Given the description of an element on the screen output the (x, y) to click on. 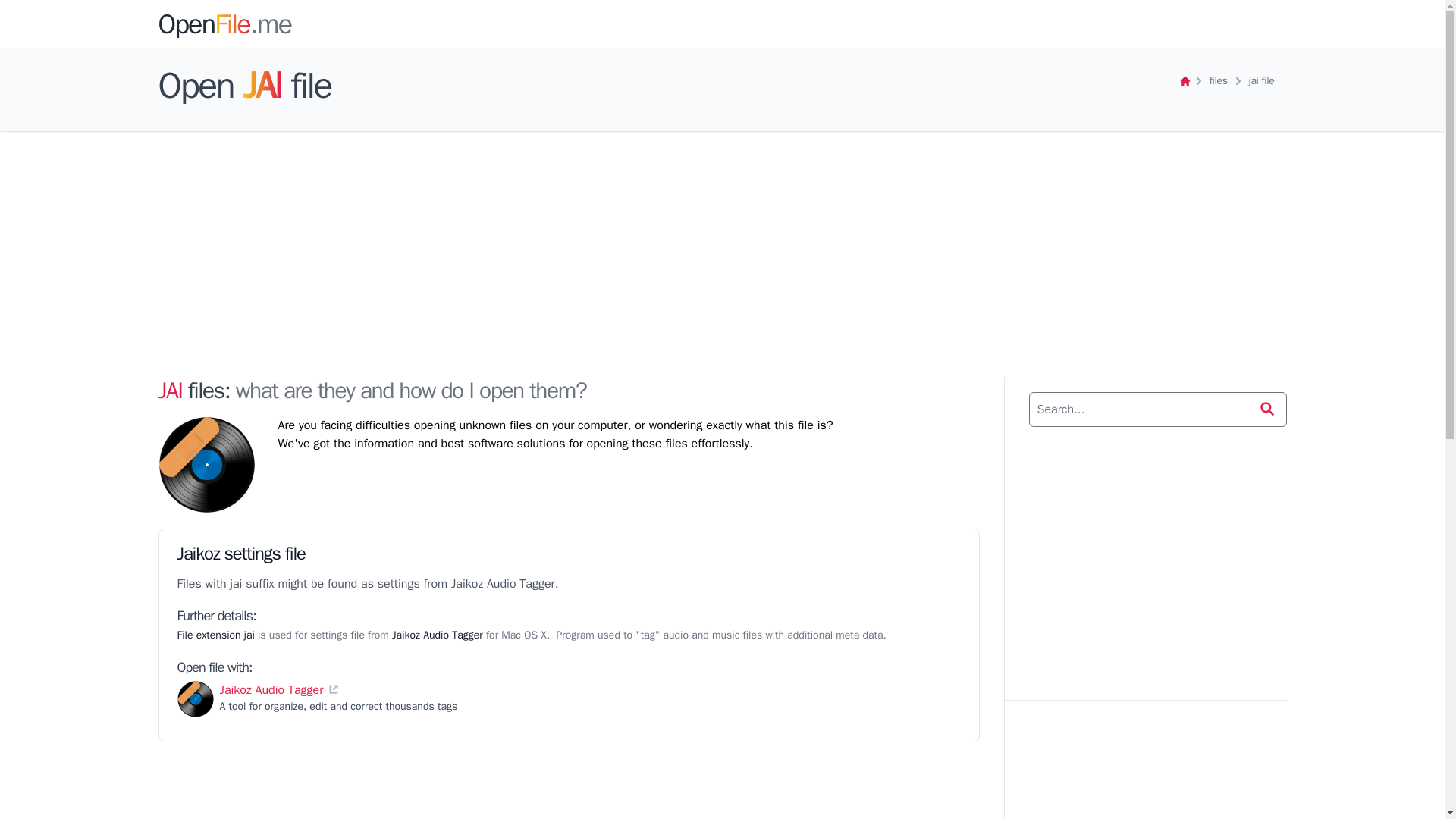
OpenFile.me (224, 24)
Jaikoz Audio Tagger (271, 689)
Back to OpenFile.me homepage (1185, 80)
